Given the description of an element on the screen output the (x, y) to click on. 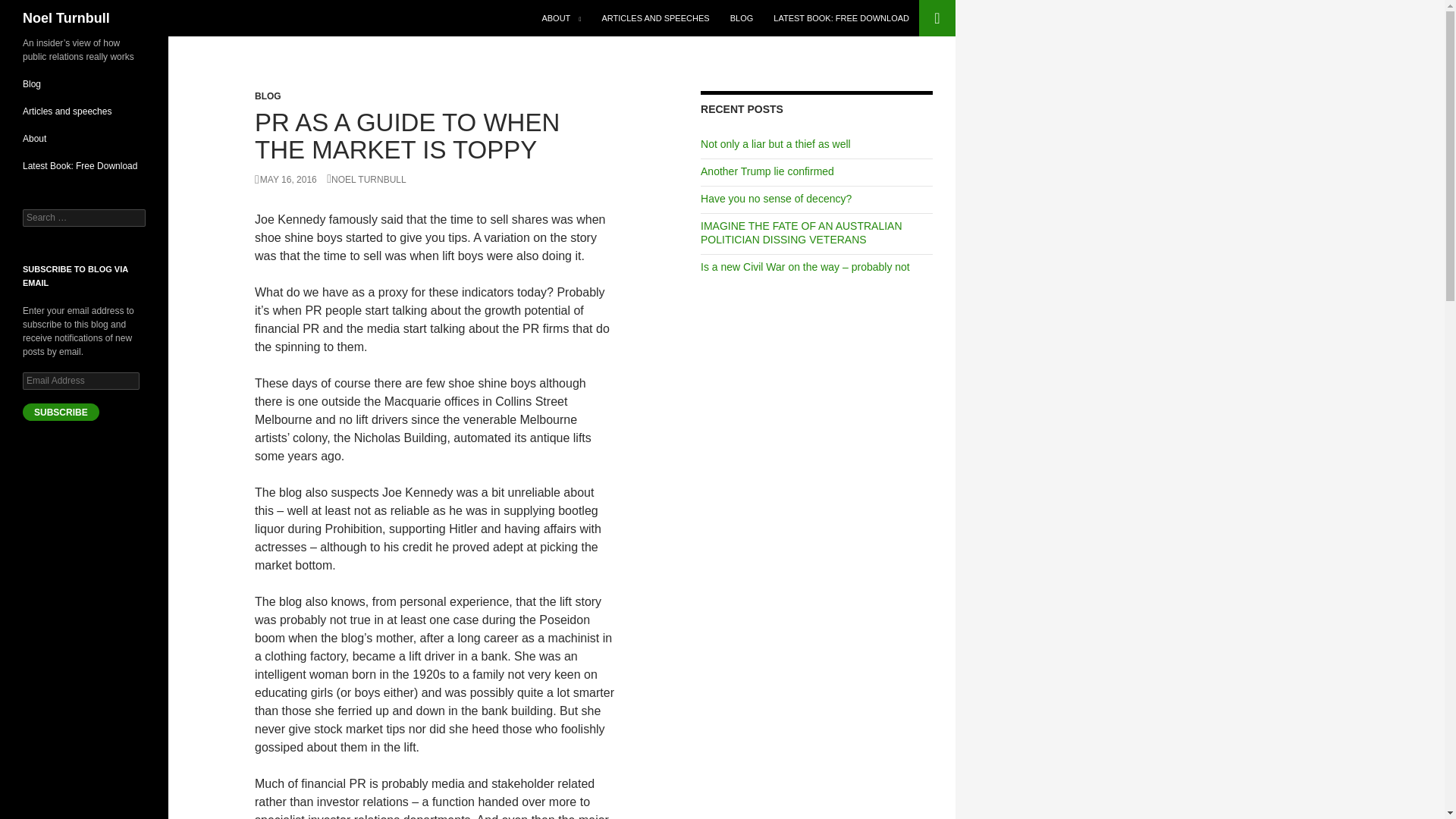
ARTICLES AND SPEECHES (654, 18)
Search (30, 8)
NOEL TURNBULL (366, 179)
BLOG (741, 18)
About (34, 138)
Not only a liar but a thief as well (775, 143)
BLOG (267, 95)
MAY 16, 2016 (285, 179)
LATEST BOOK: FREE DOWNLOAD (841, 18)
